Given the description of an element on the screen output the (x, y) to click on. 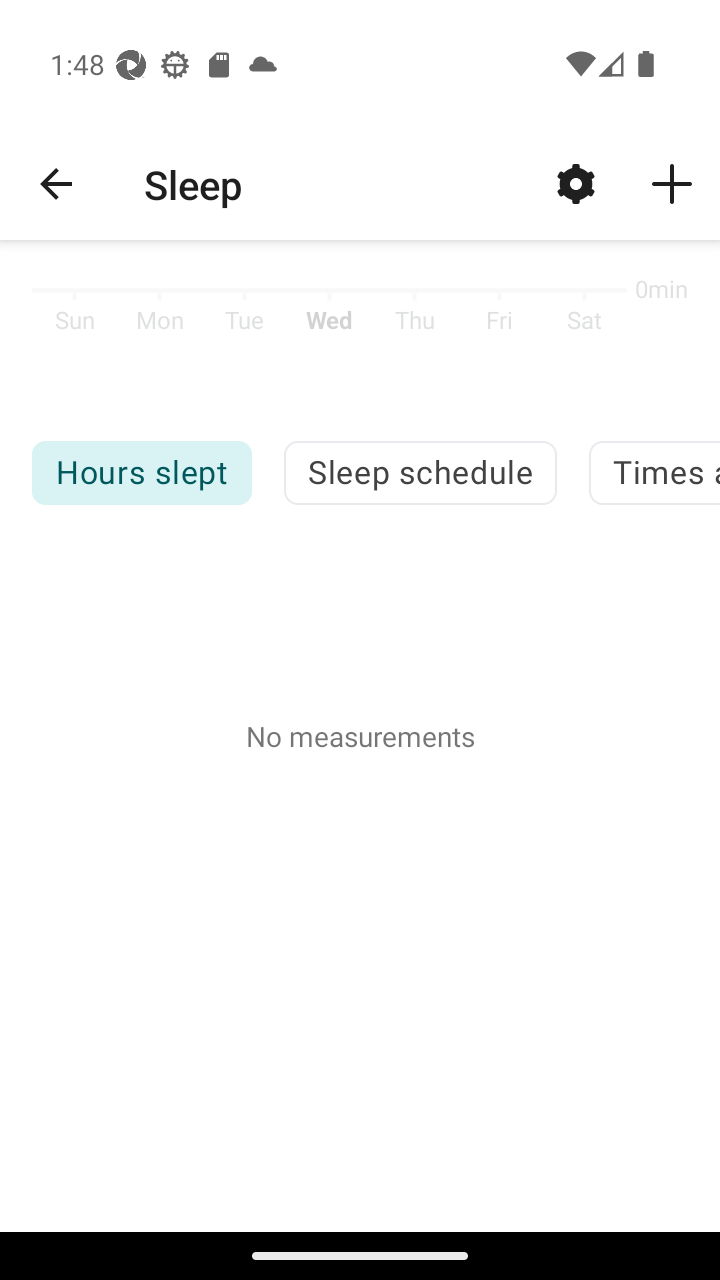
Navigate up (56, 184)
Adjust your goal (575, 183)
Tap to track sleep or
 log a past record (672, 183)
Hours slept (141, 472)
Sleep schedule (420, 472)
Times awakened (654, 472)
